Given the description of an element on the screen output the (x, y) to click on. 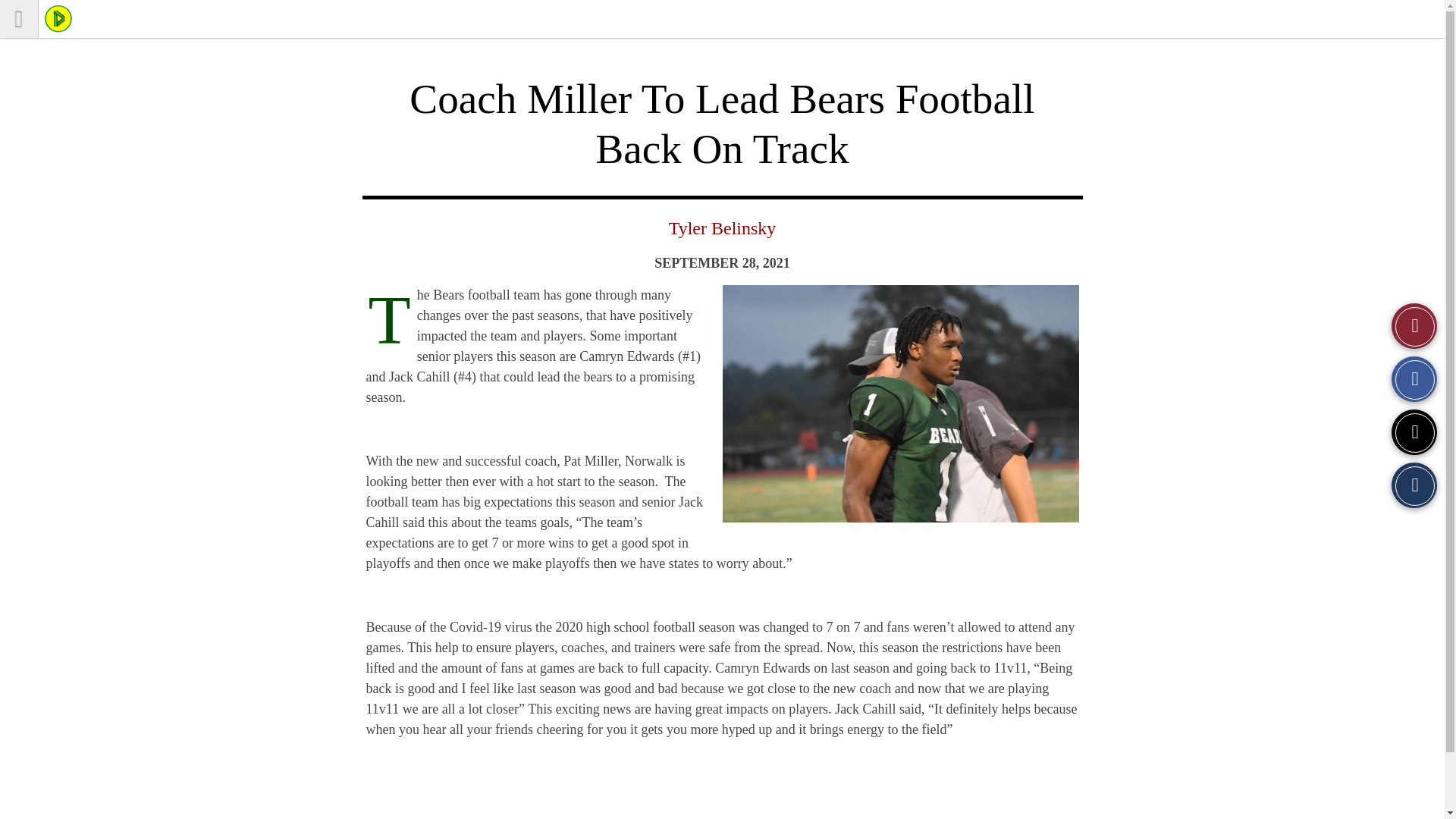
Tweet This Story (1414, 432)
Share on Facebook (1414, 379)
Email this Story (1414, 484)
